Given the description of an element on the screen output the (x, y) to click on. 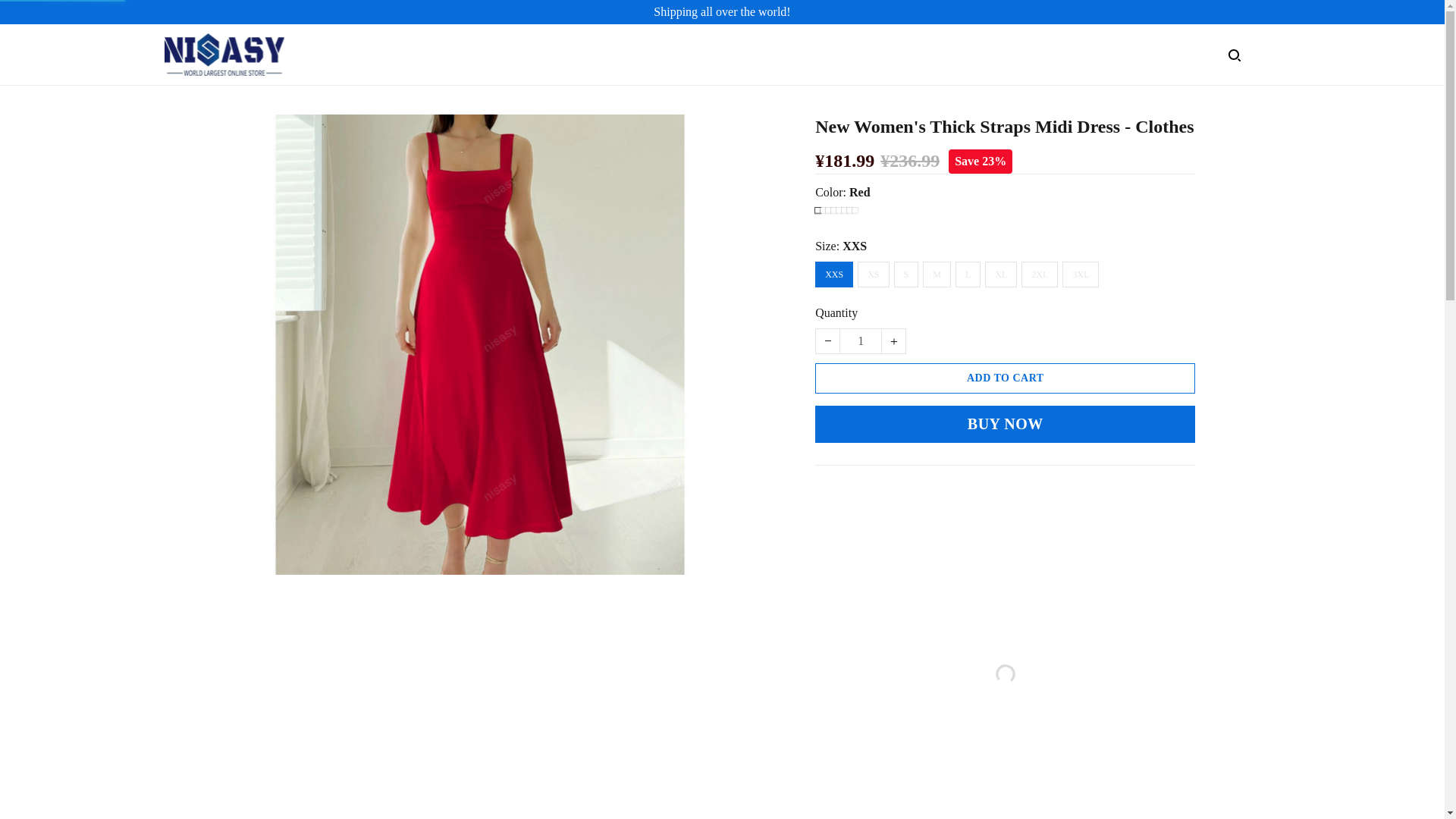
3XL (1080, 274)
XS (872, 274)
XL (1000, 274)
L (967, 274)
ADD TO CART (1005, 378)
1 (860, 340)
S (905, 274)
M (936, 274)
BUY NOW (1005, 424)
XXS (834, 274)
2XL (1040, 274)
